Given the description of an element on the screen output the (x, y) to click on. 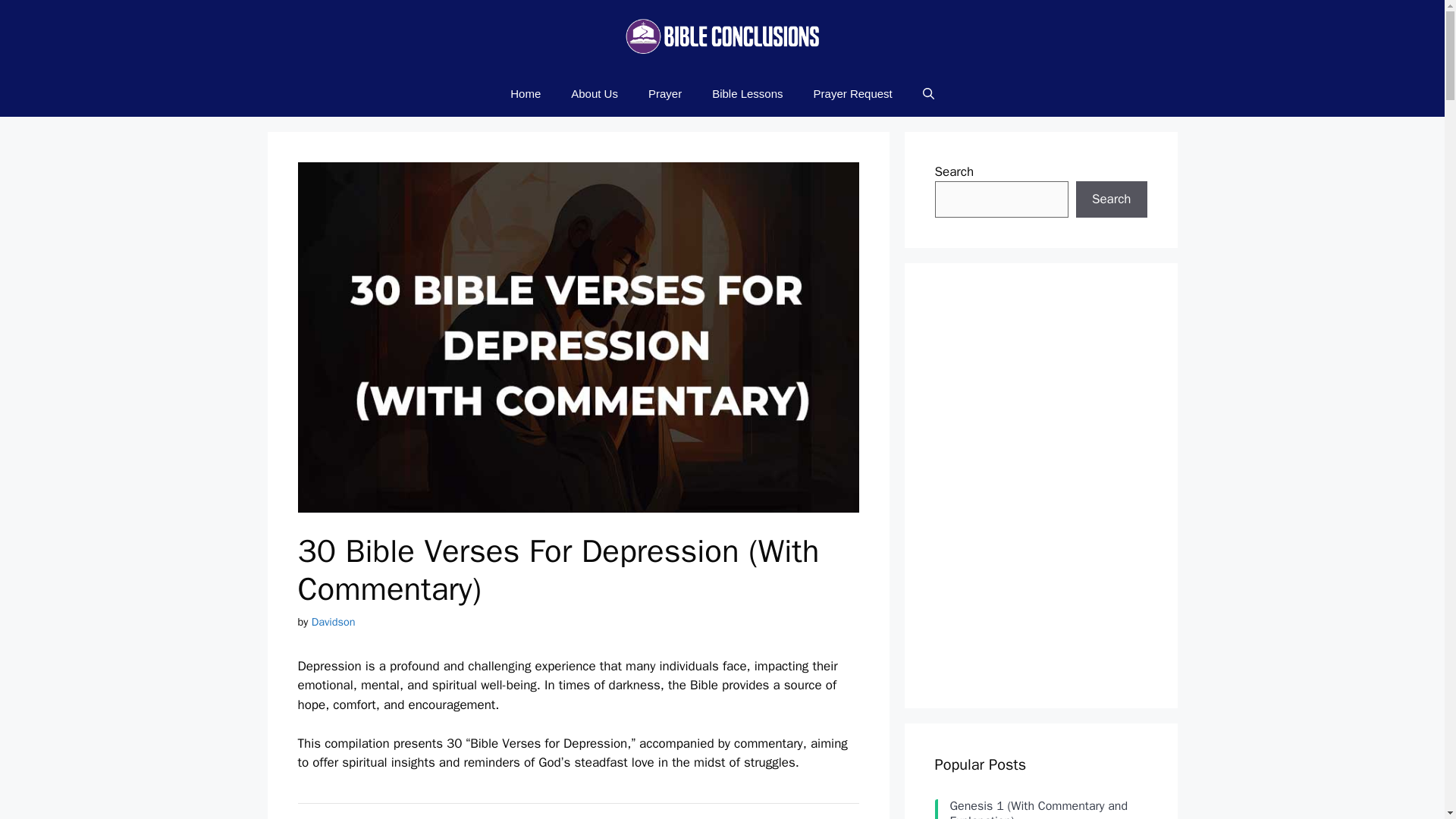
View all posts by Davidson (333, 621)
Prayer (665, 94)
Bible Lessons (747, 94)
Home (525, 94)
About Us (594, 94)
Davidson (333, 621)
Search (1111, 198)
Prayer Request (852, 94)
